Given the description of an element on the screen output the (x, y) to click on. 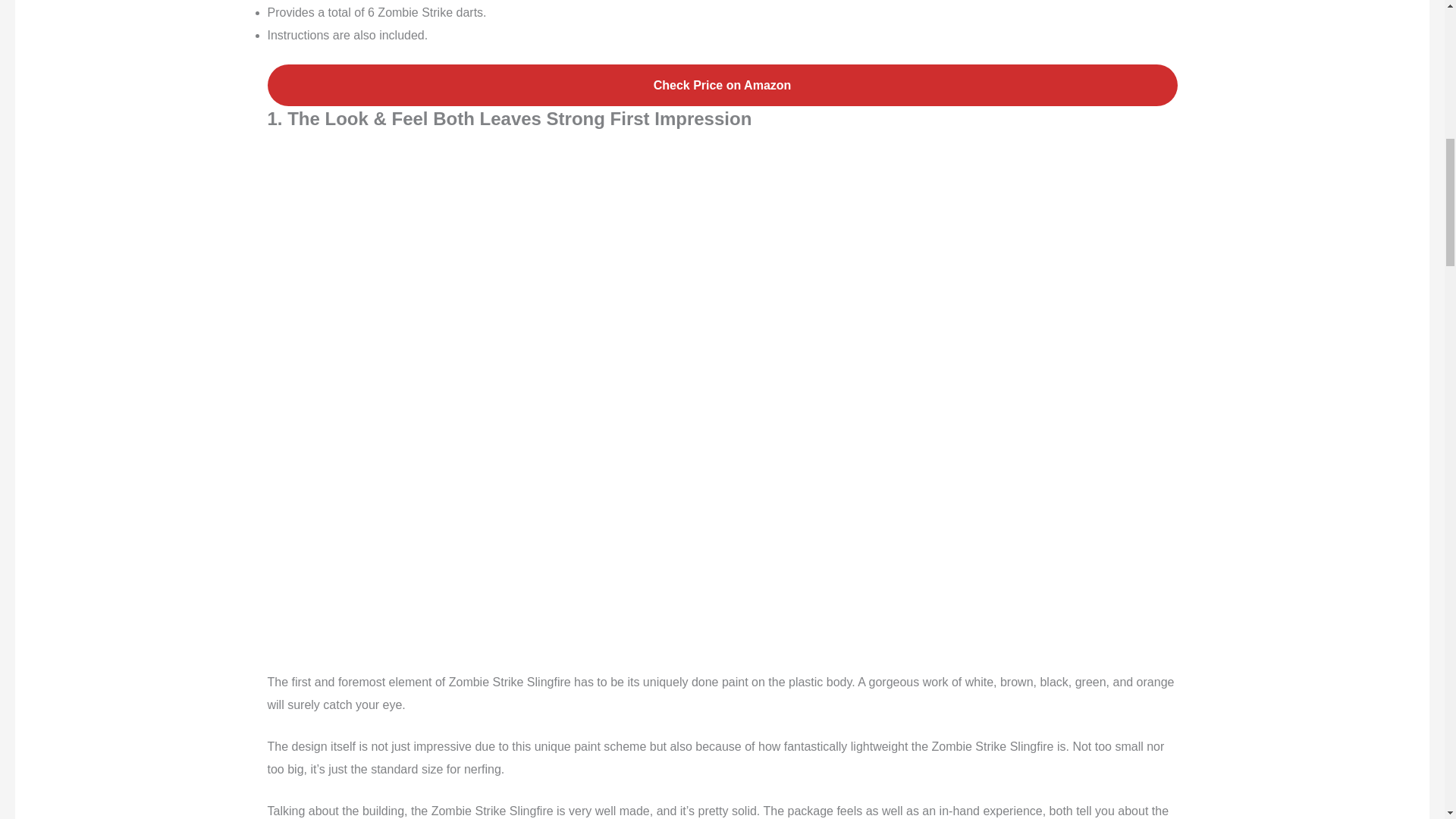
Check Price on Amazon (721, 85)
